Given the description of an element on the screen output the (x, y) to click on. 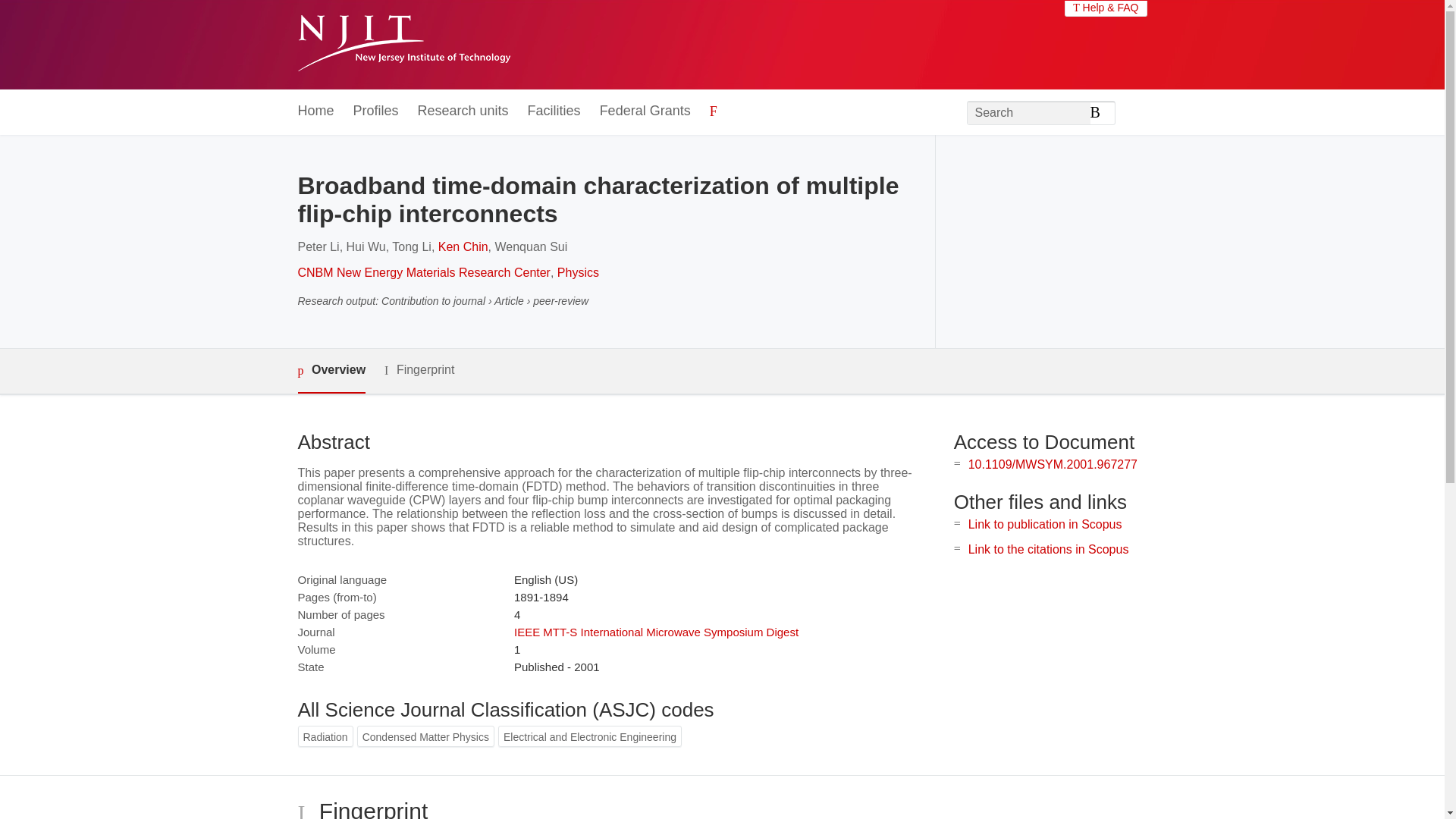
Fingerprint (419, 370)
IEEE MTT-S International Microwave Symposium Digest (655, 631)
Research units (462, 111)
Facilities (553, 111)
Federal Grants (644, 111)
Link to publication in Scopus (1045, 523)
Physics (577, 272)
Ken Chin (462, 246)
Overview (331, 370)
